Given the description of an element on the screen output the (x, y) to click on. 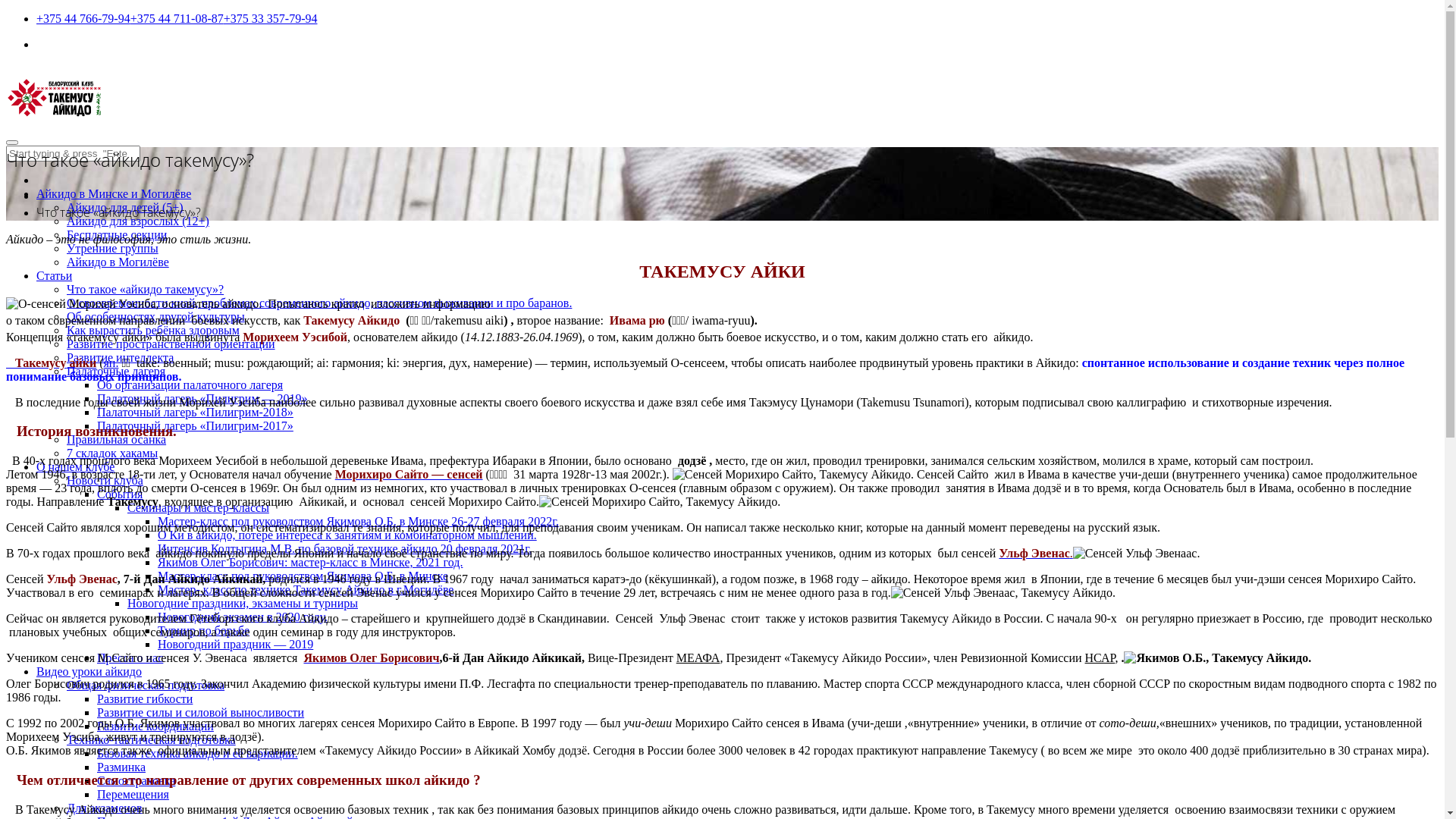
+375 33 357-79-94 Element type: text (270, 18)
+375 44 711-08-87 Element type: text (176, 18)
+375 44 766-79-94 Element type: text (83, 18)
